Given the description of an element on the screen output the (x, y) to click on. 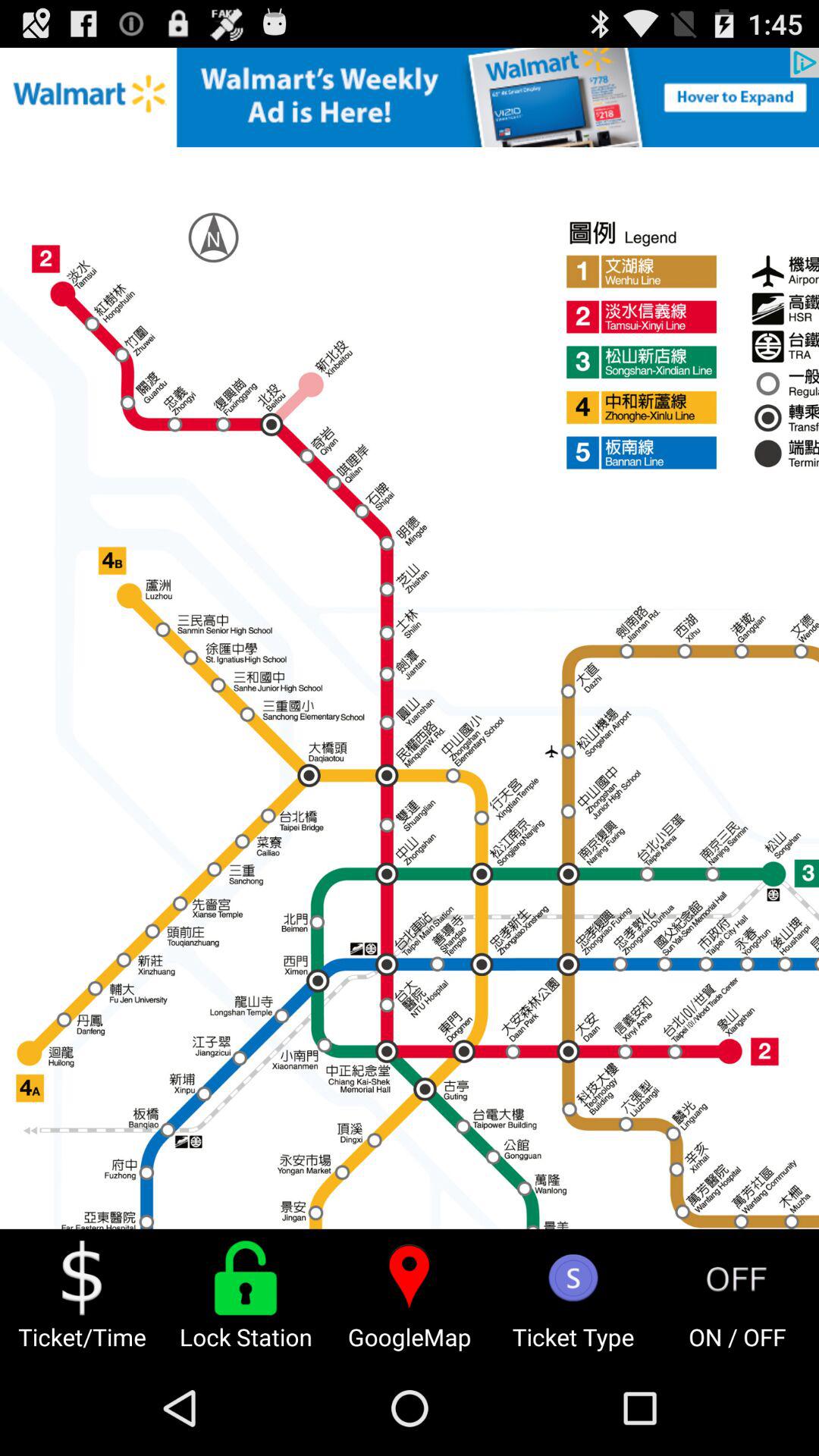
advertisement (409, 97)
